Given the description of an element on the screen output the (x, y) to click on. 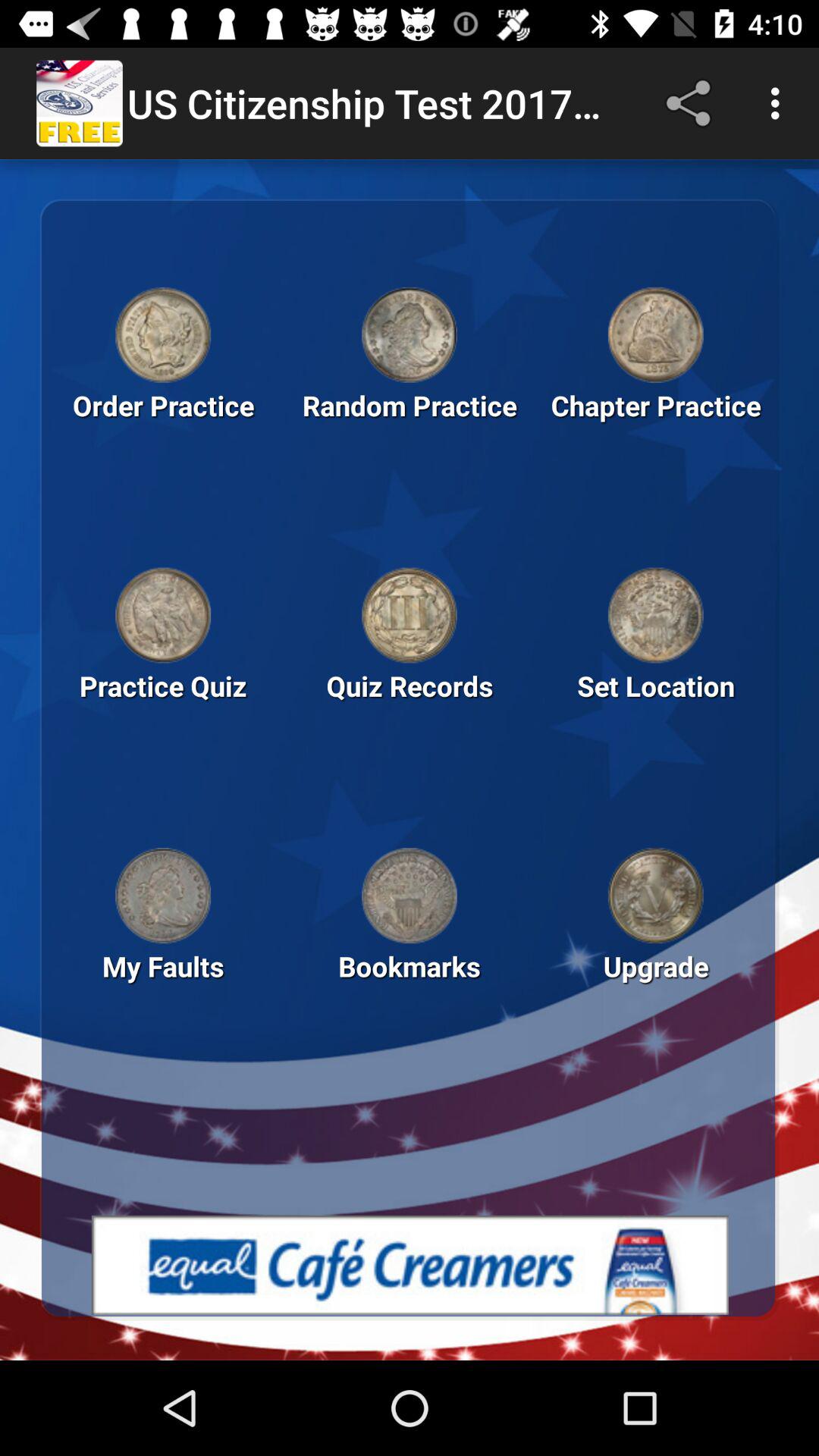
open random practice (409, 334)
